Given the description of an element on the screen output the (x, y) to click on. 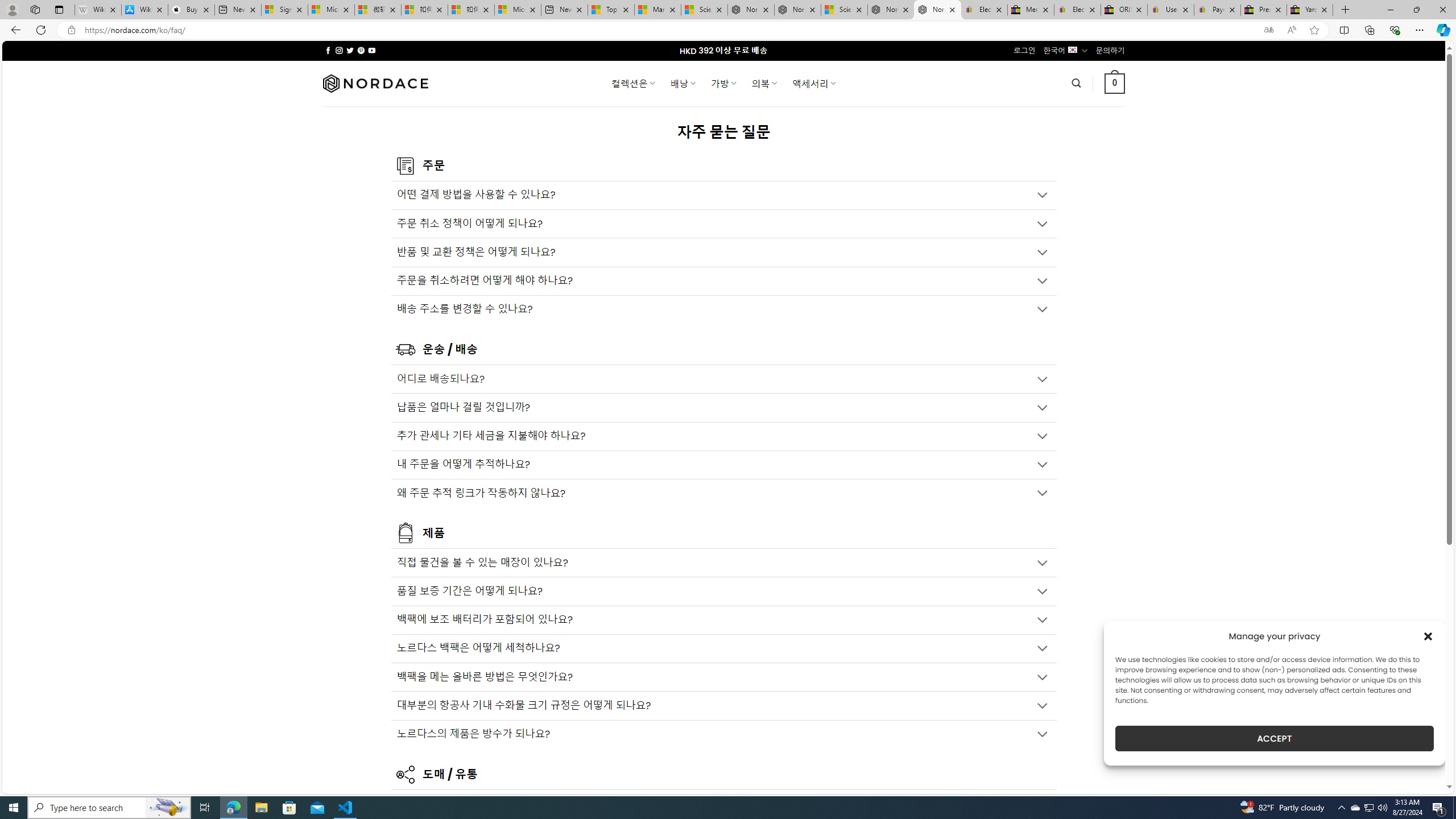
Follow on Facebook (327, 50)
